Given the description of an element on the screen output the (x, y) to click on. 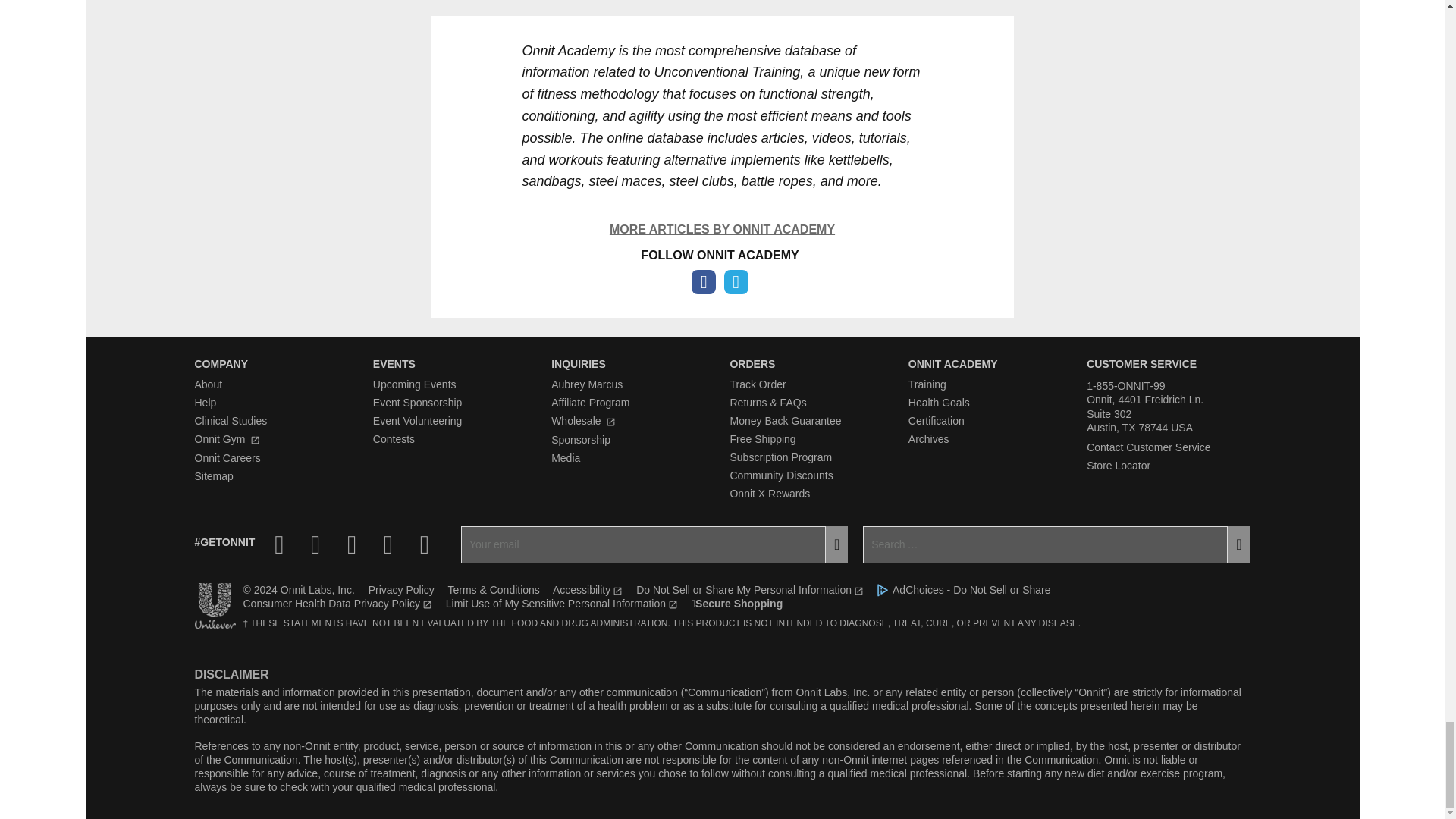
Opens in new window. (673, 604)
Opens in new window. (427, 604)
Opens in new window. (610, 421)
Opens in new window. (617, 591)
Opens in new window. (255, 439)
Opens in new window. (858, 591)
